Given the description of an element on the screen output the (x, y) to click on. 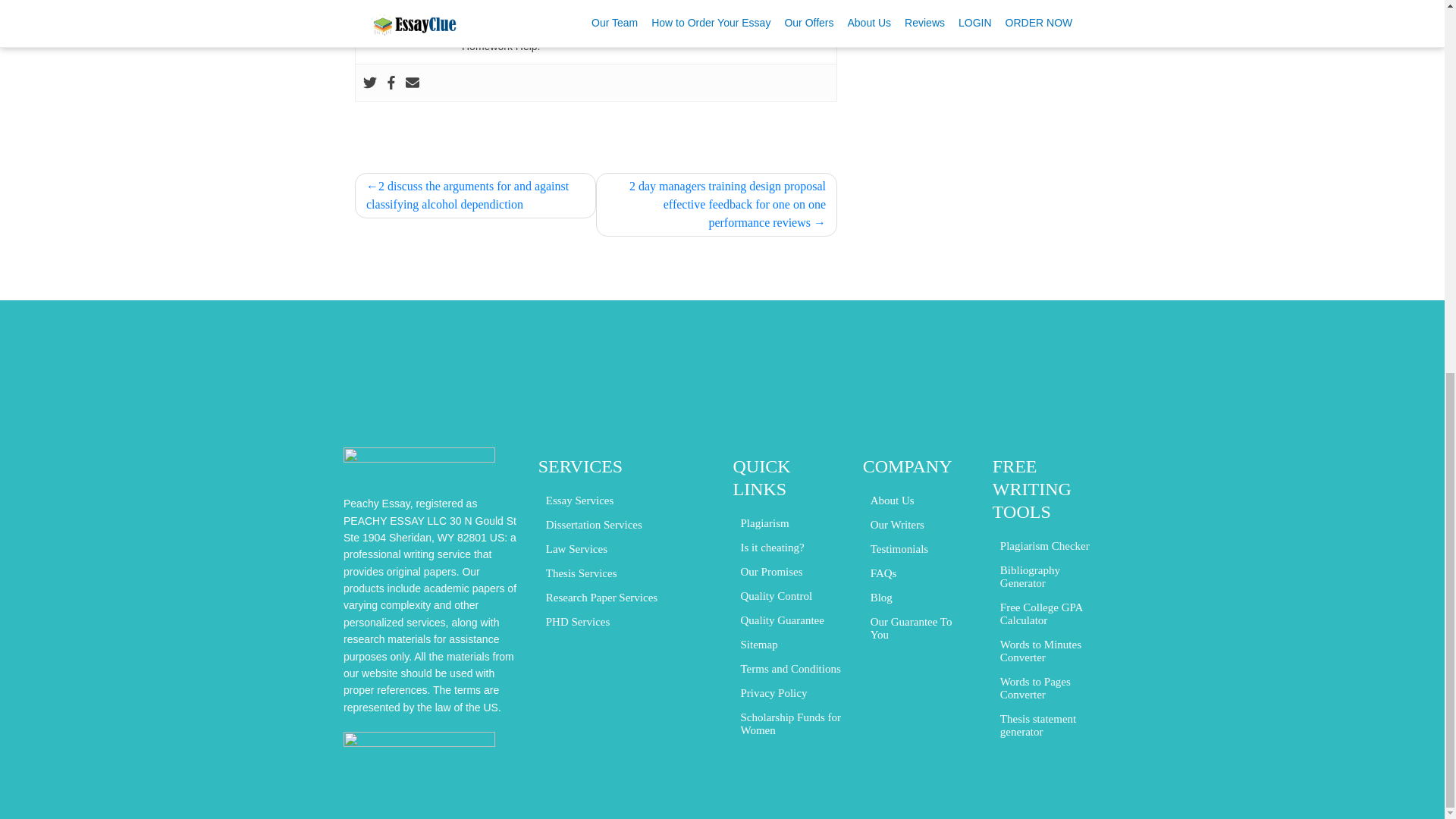
Quality Control (775, 595)
Facebook (390, 82)
Research Paper Services (602, 597)
Scholarship Funds for Women (790, 723)
Law Services (576, 548)
Twitter (369, 82)
Sitemap (758, 644)
Plagiarism (764, 522)
Privacy Policy (772, 693)
User email (412, 82)
Essay Services (580, 500)
Is it cheating? (771, 547)
Our Promises (770, 571)
Terms and Conditions (789, 668)
